Given the description of an element on the screen output the (x, y) to click on. 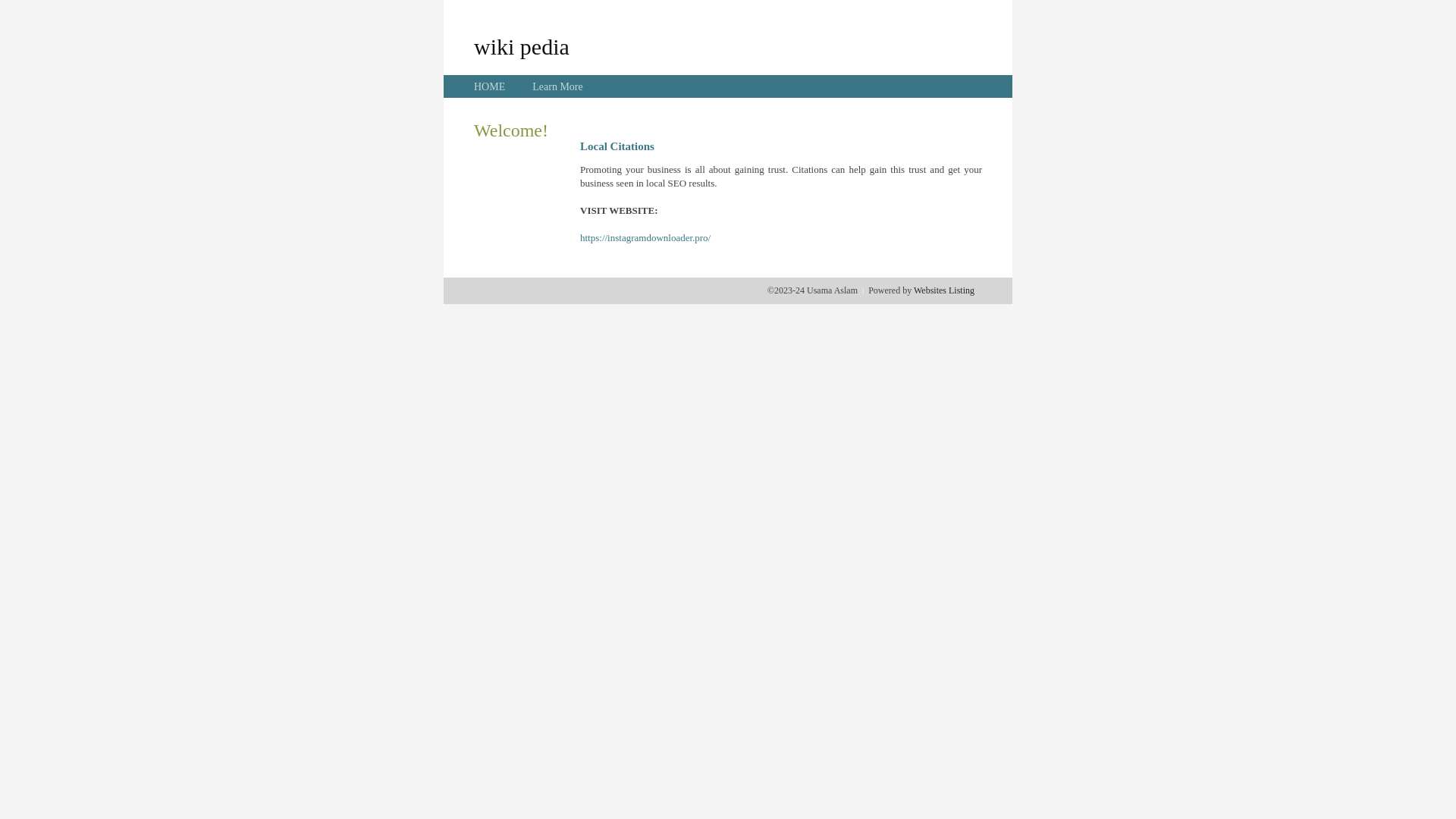
Websites Listing Element type: text (943, 290)
Learn More Element type: text (557, 86)
wiki pedia Element type: text (521, 46)
https://instagramdownloader.pro/ Element type: text (645, 237)
HOME Element type: text (489, 86)
